Given the description of an element on the screen output the (x, y) to click on. 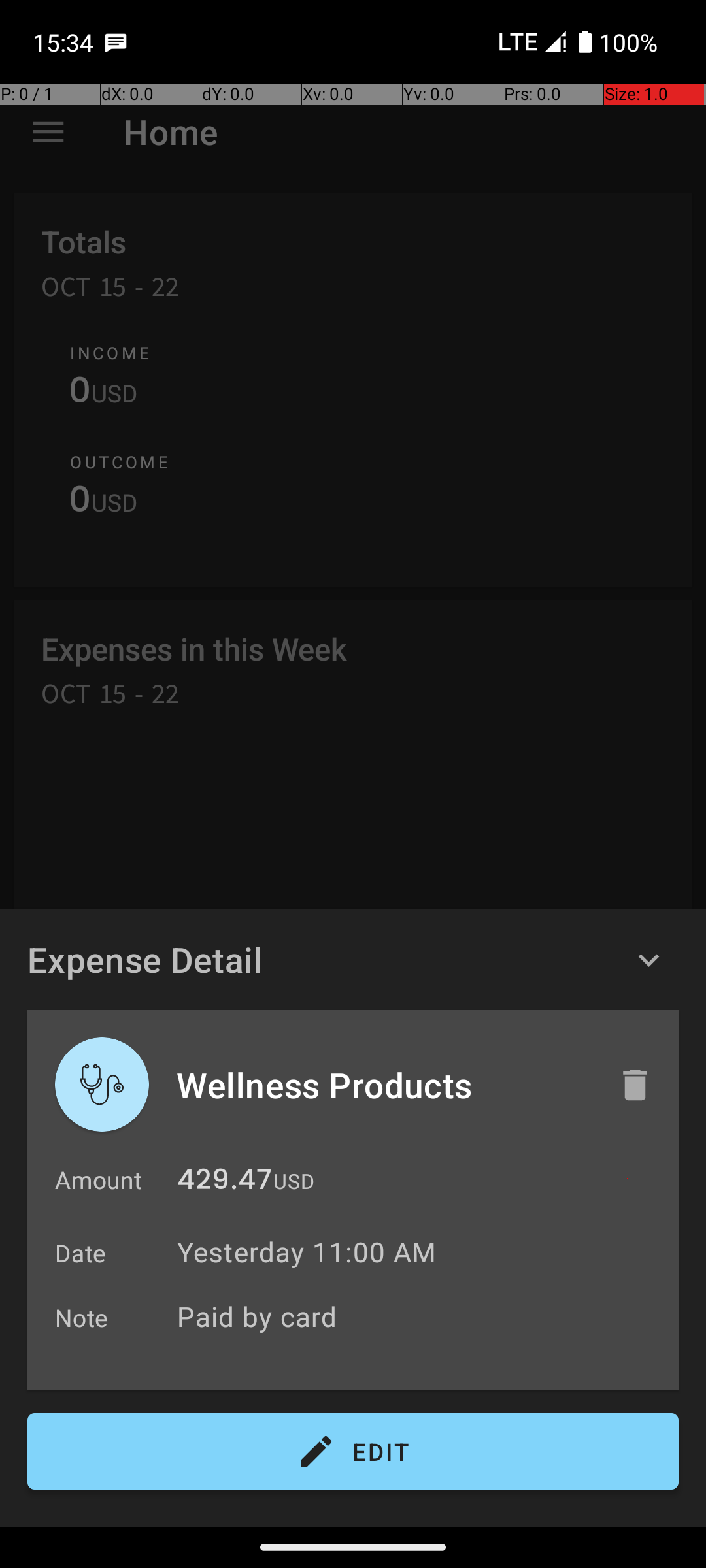
Wellness Products Element type: android.widget.TextView (383, 1084)
429.47 Element type: android.widget.TextView (224, 1182)
Yesterday 11:00 AM Element type: android.widget.TextView (306, 1251)
